Given the description of an element on the screen output the (x, y) to click on. 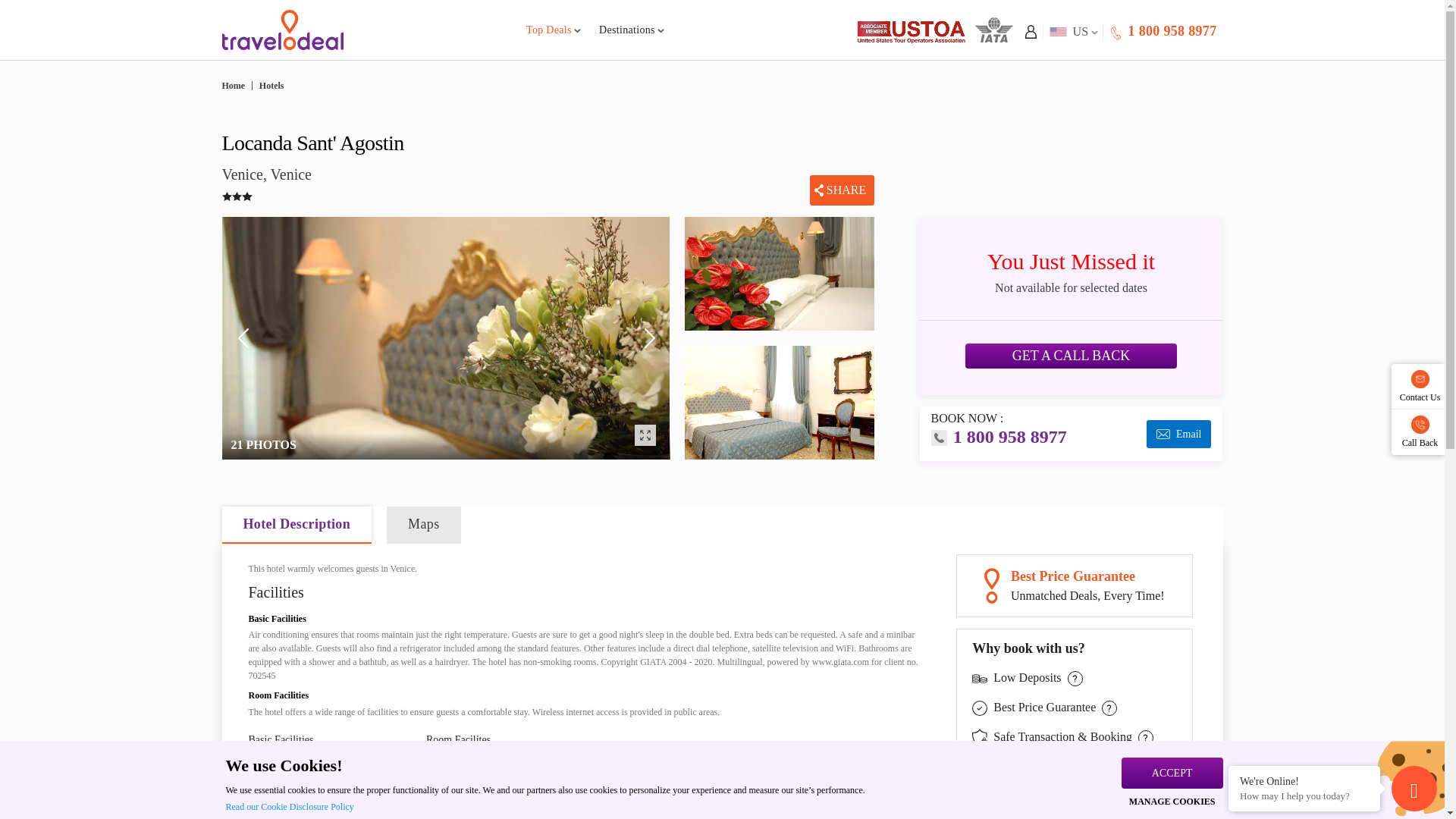
We're Online! (1304, 780)
Top Deals (552, 29)
US (1070, 31)
GET A CALL BACK (1174, 30)
1 800 958 8977 (1161, 31)
Destinations (630, 29)
How may I help you today? (1304, 796)
